Given the description of an element on the screen output the (x, y) to click on. 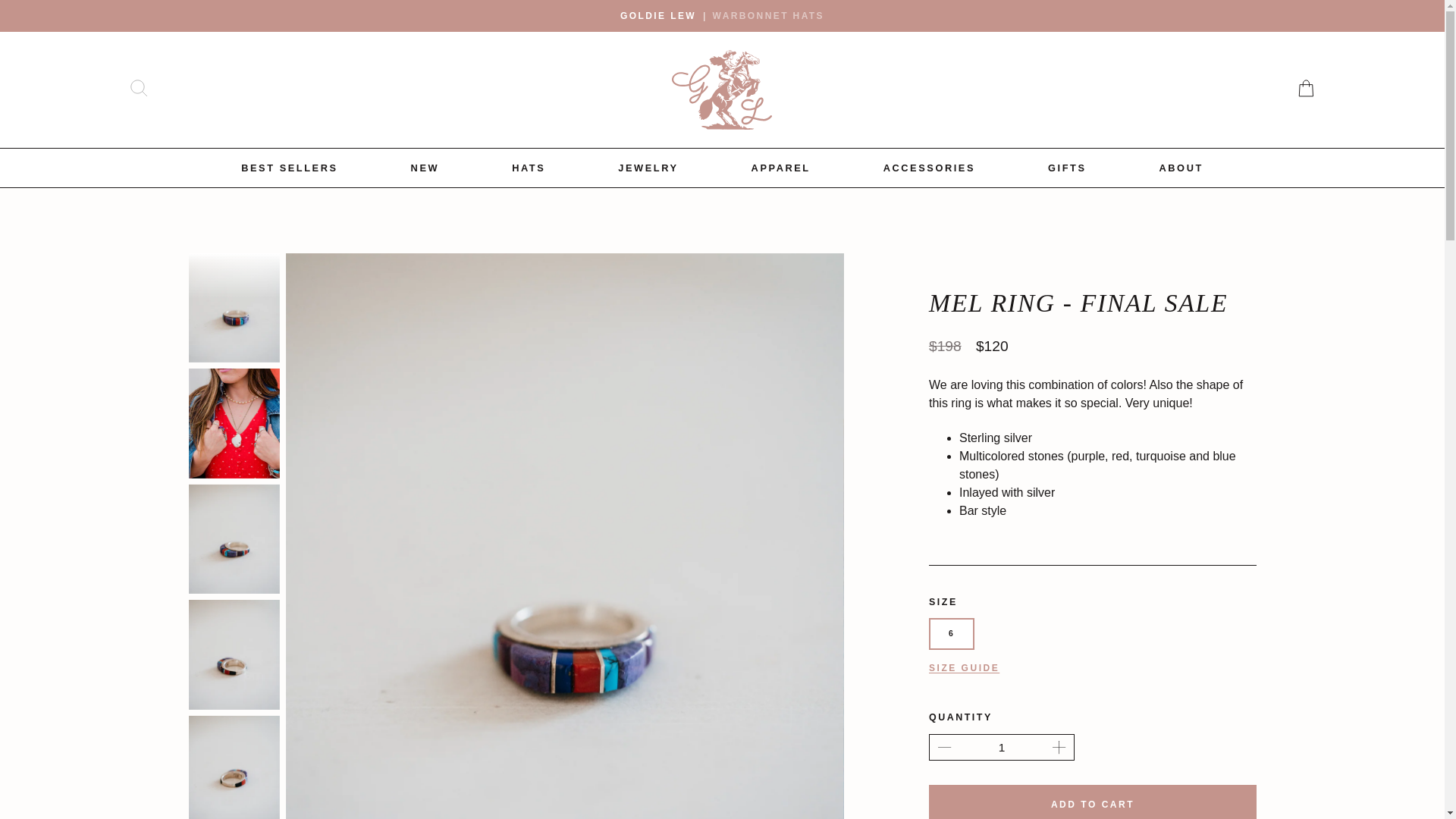
GIFTS (1067, 167)
WARBONNET HATS (768, 15)
APPAREL (780, 167)
1 (1000, 746)
ACCESSORIES (929, 167)
ADD TO CART (1091, 801)
JEWELRY (647, 167)
SIZE GUIDE (963, 667)
ABOUT (1181, 167)
NEW (424, 167)
BEST SELLERS (289, 167)
HATS (528, 167)
GOLDIE LEW (657, 15)
